Given the description of an element on the screen output the (x, y) to click on. 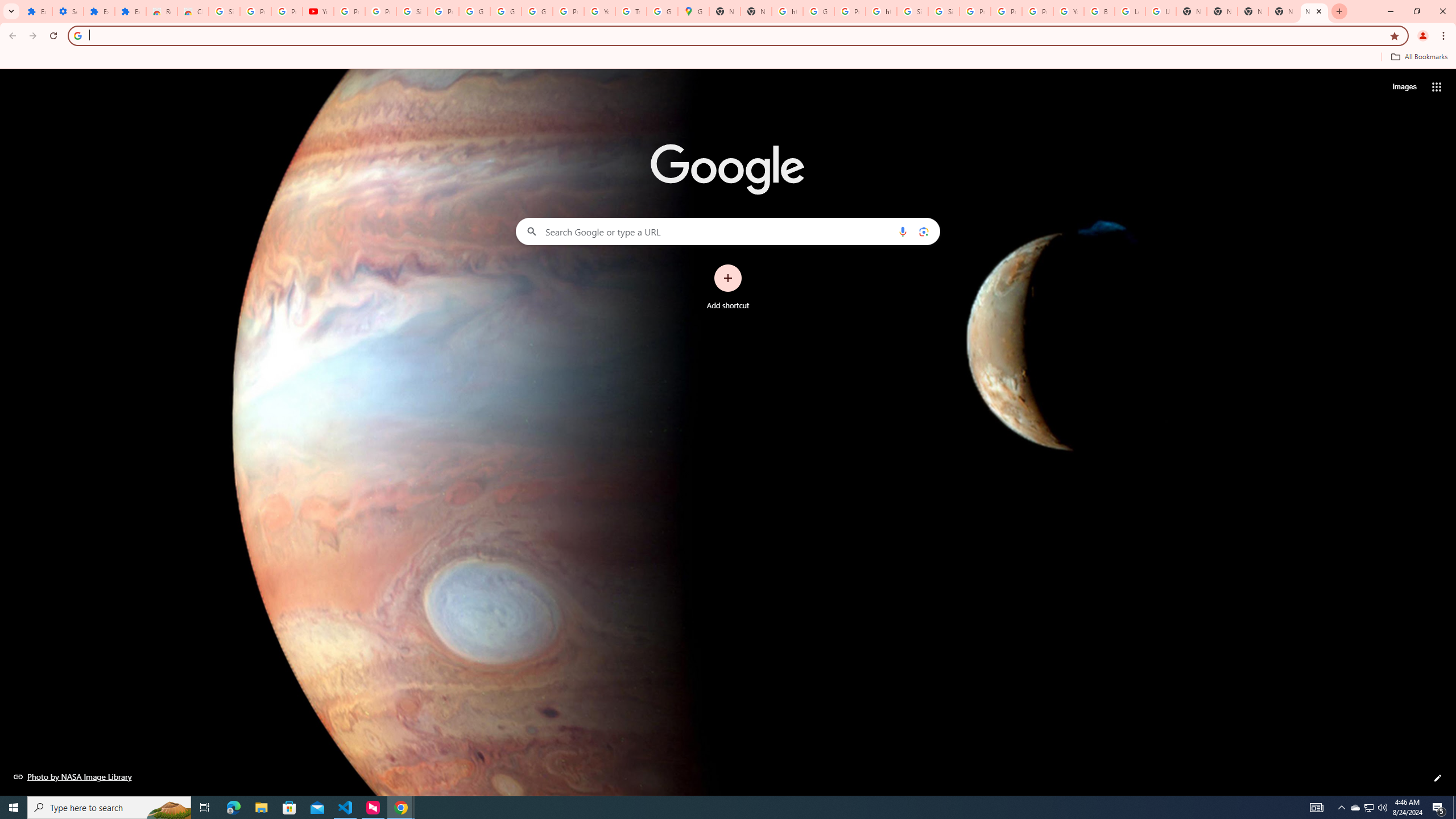
Search icon (77, 35)
Sign in - Google Accounts (223, 11)
Chrome Web Store - Themes (192, 11)
Search for Images  (1403, 87)
New Tab (1314, 11)
Privacy Help Center - Policies Help (1005, 11)
Search Google or type a URL (727, 230)
YouTube (318, 11)
Sign in - Google Accounts (411, 11)
